Given the description of an element on the screen output the (x, y) to click on. 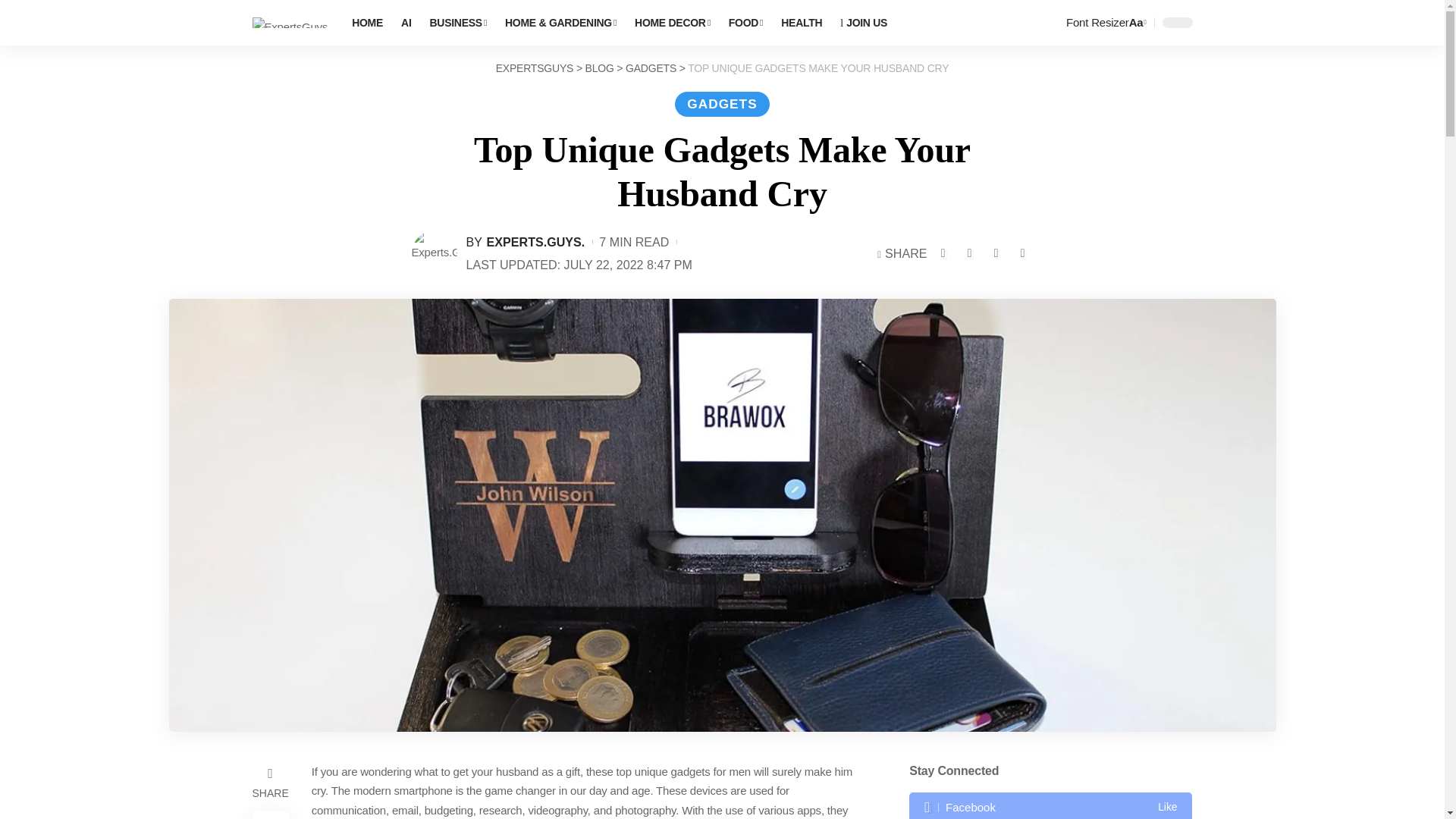
BUSINESS (458, 22)
ExpertsGuys (289, 22)
AI (405, 22)
HOME (366, 22)
HOME DECOR (672, 22)
